Given the description of an element on the screen output the (x, y) to click on. 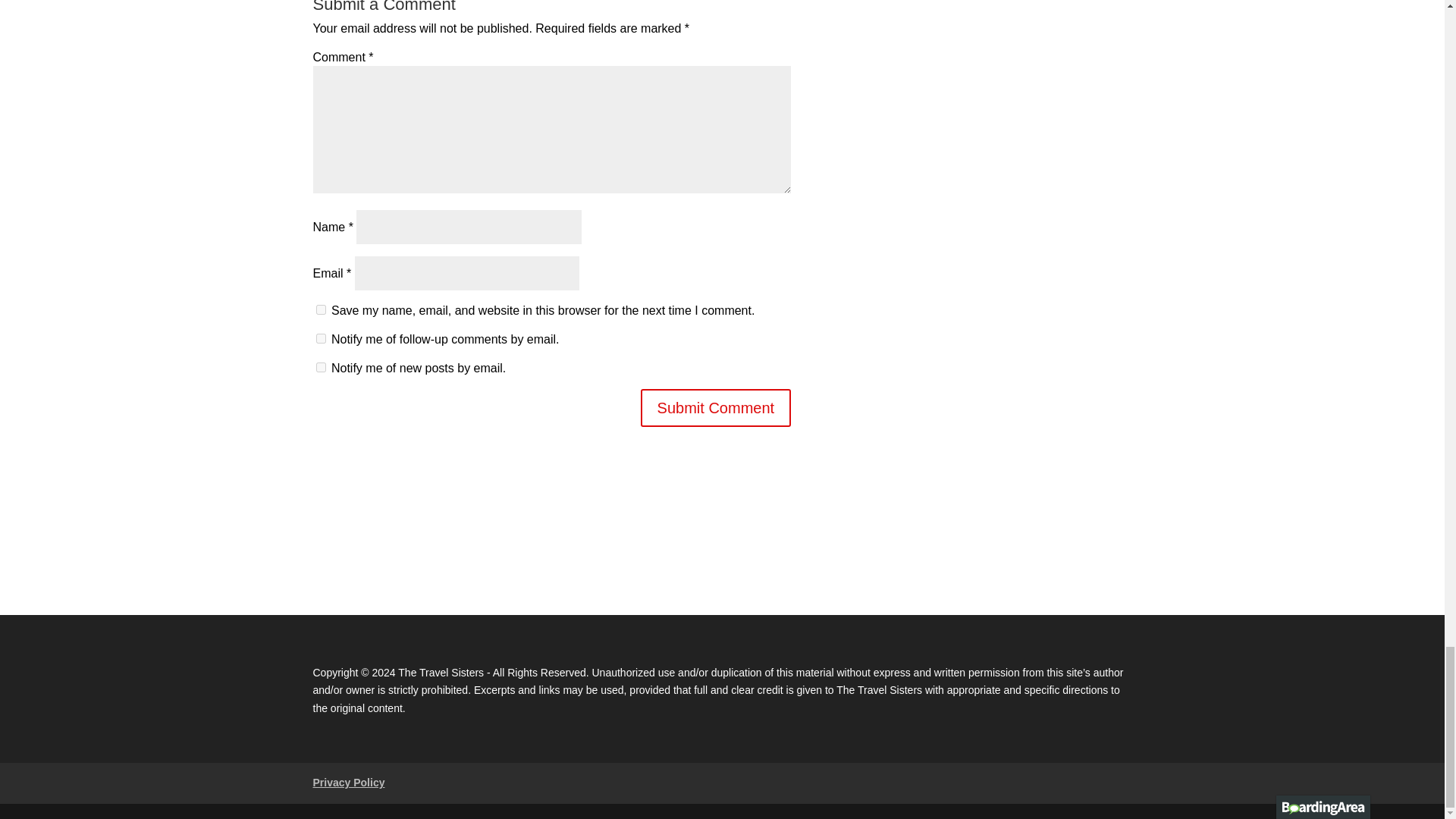
yes (319, 309)
subscribe (319, 338)
subscribe (319, 367)
Submit Comment (716, 407)
